Given the description of an element on the screen output the (x, y) to click on. 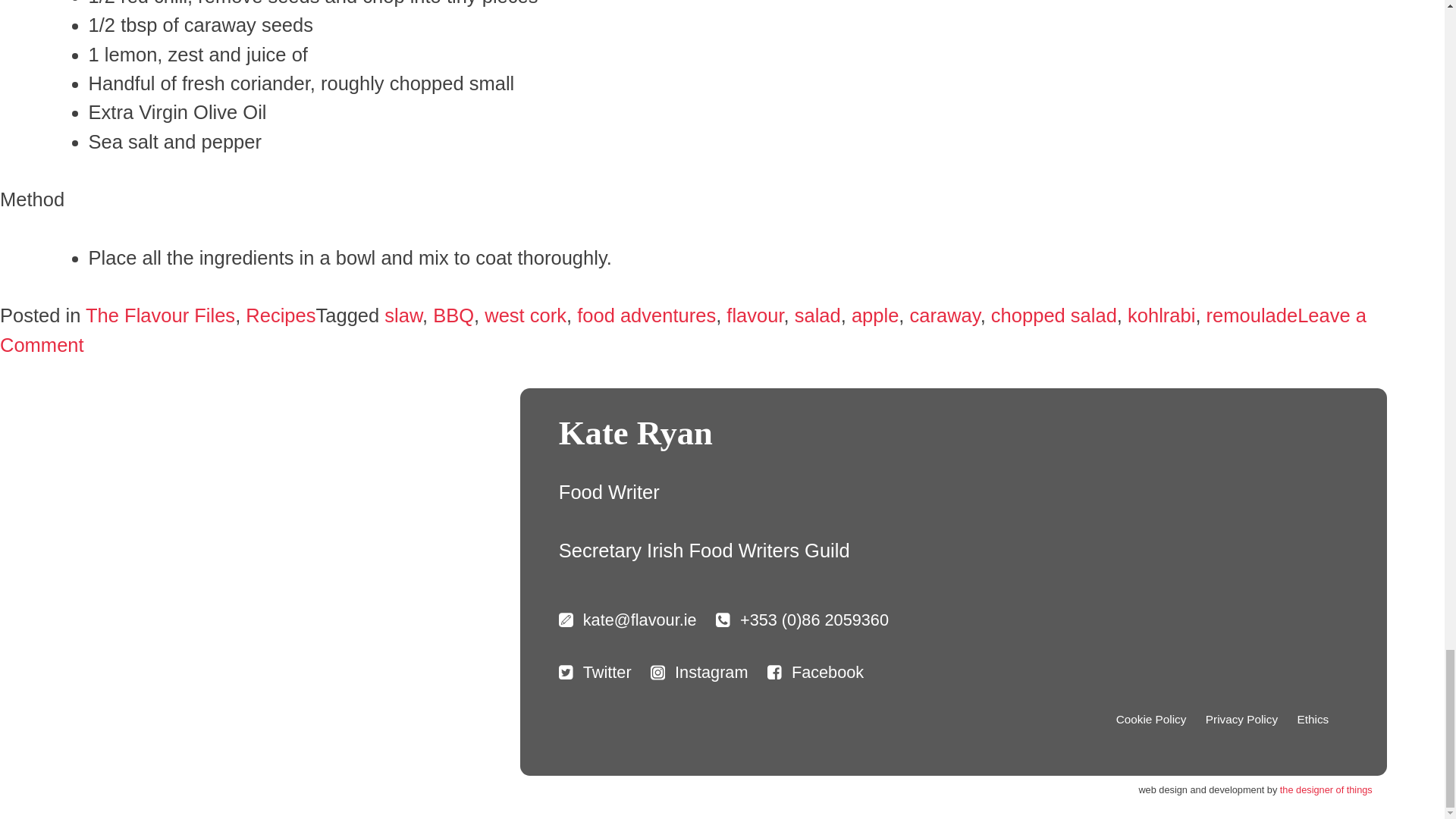
BBQ (453, 314)
The Flavour Files (159, 314)
slaw (403, 314)
apple (874, 314)
chopped salad (1053, 314)
remoulade (1252, 314)
Facebook (815, 672)
west cork (525, 314)
kohlrabi (1160, 314)
Cookie Policy (1151, 720)
caraway (944, 314)
Recipes (280, 314)
Twitter (595, 672)
flavour (754, 314)
Privacy Policy (1241, 720)
